Given the description of an element on the screen output the (x, y) to click on. 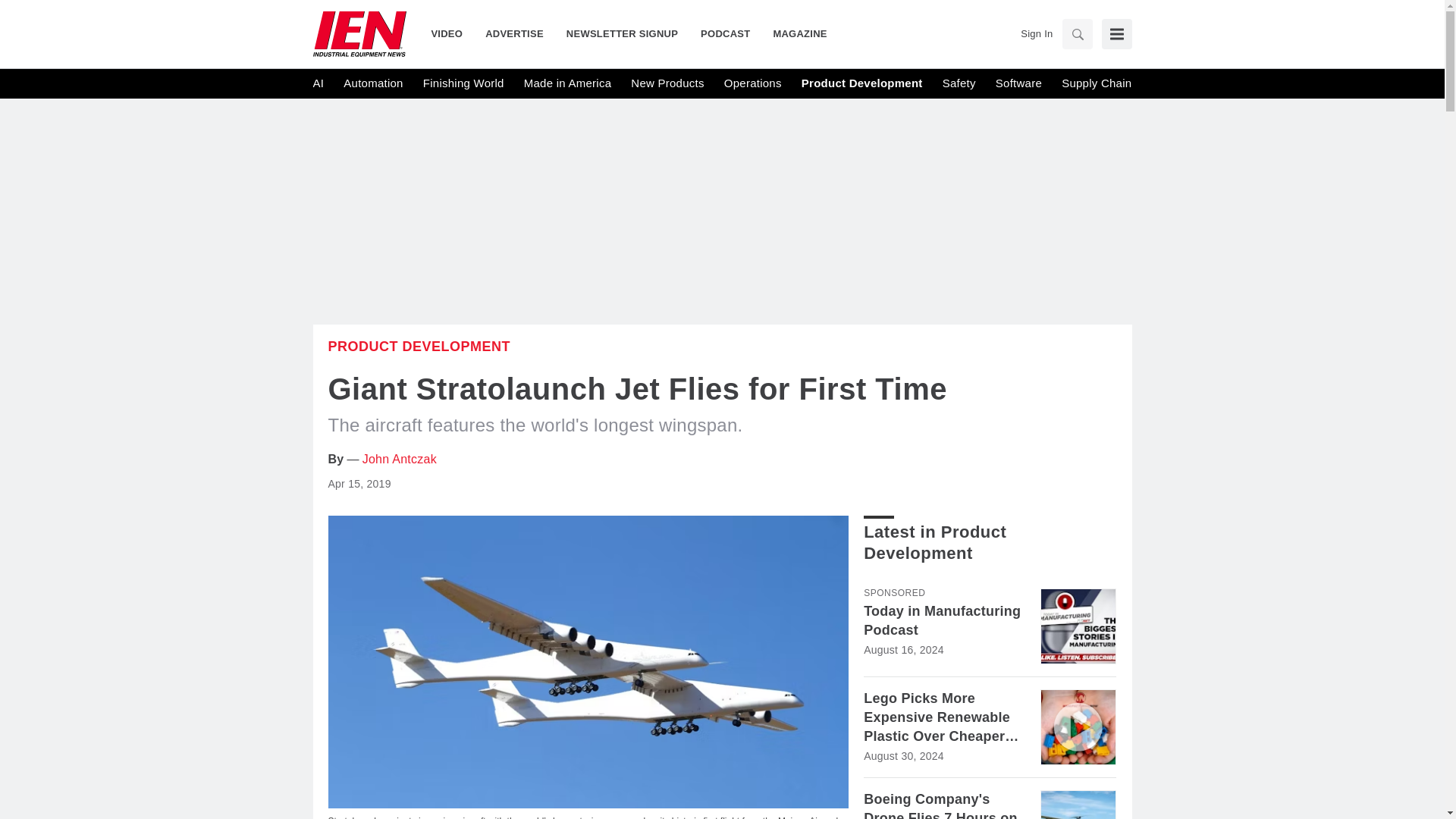
Sign In (1036, 33)
Operations (752, 83)
Automation (373, 83)
PODCAST (724, 33)
Made in America (567, 83)
Product Development (862, 83)
NEWSLETTER SIGNUP (621, 33)
Safety (958, 83)
Finishing World (463, 83)
ADVERTISE (514, 33)
